Given the description of an element on the screen output the (x, y) to click on. 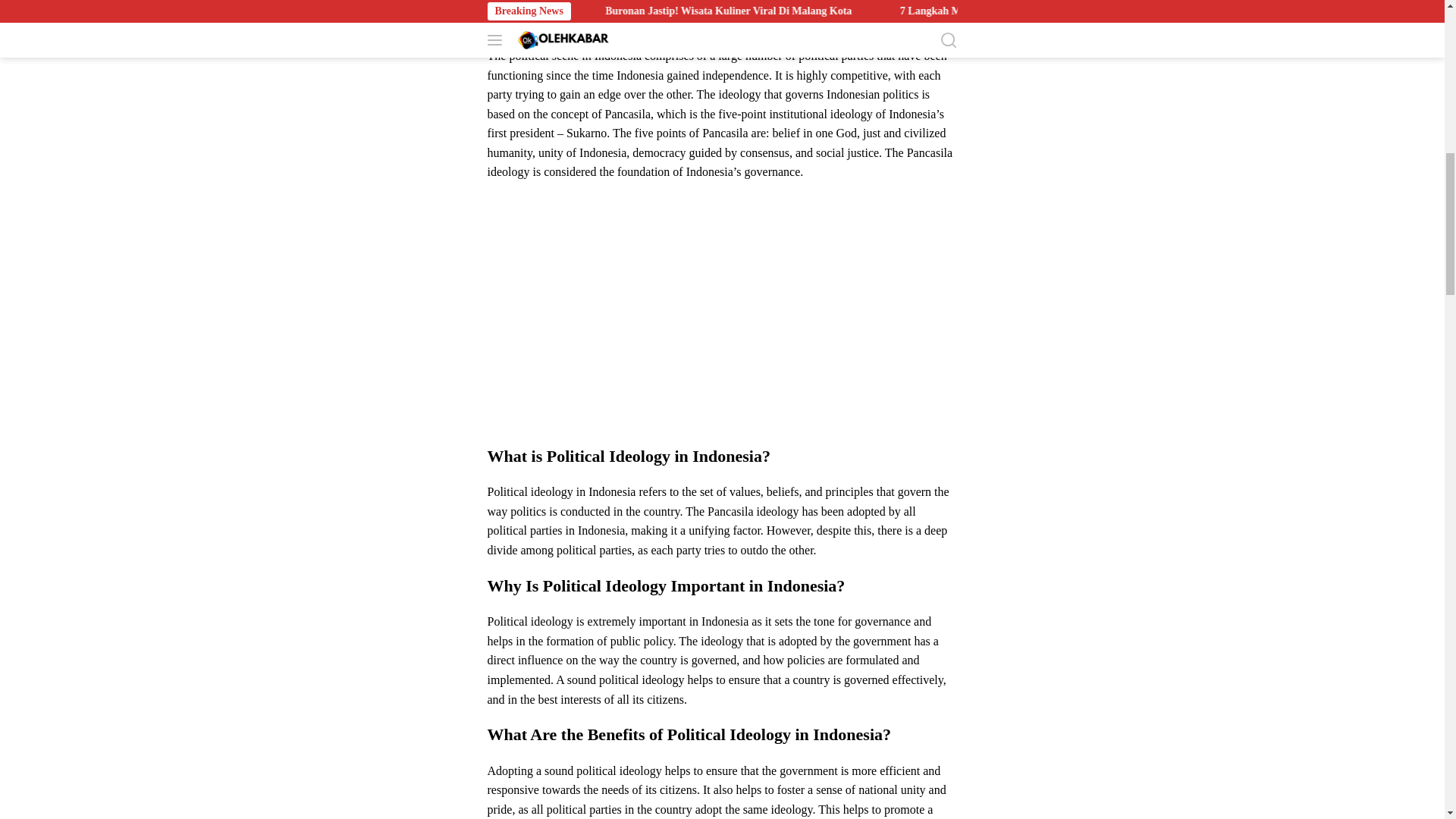
3rd party ad content (721, 318)
